Given the description of an element on the screen output the (x, y) to click on. 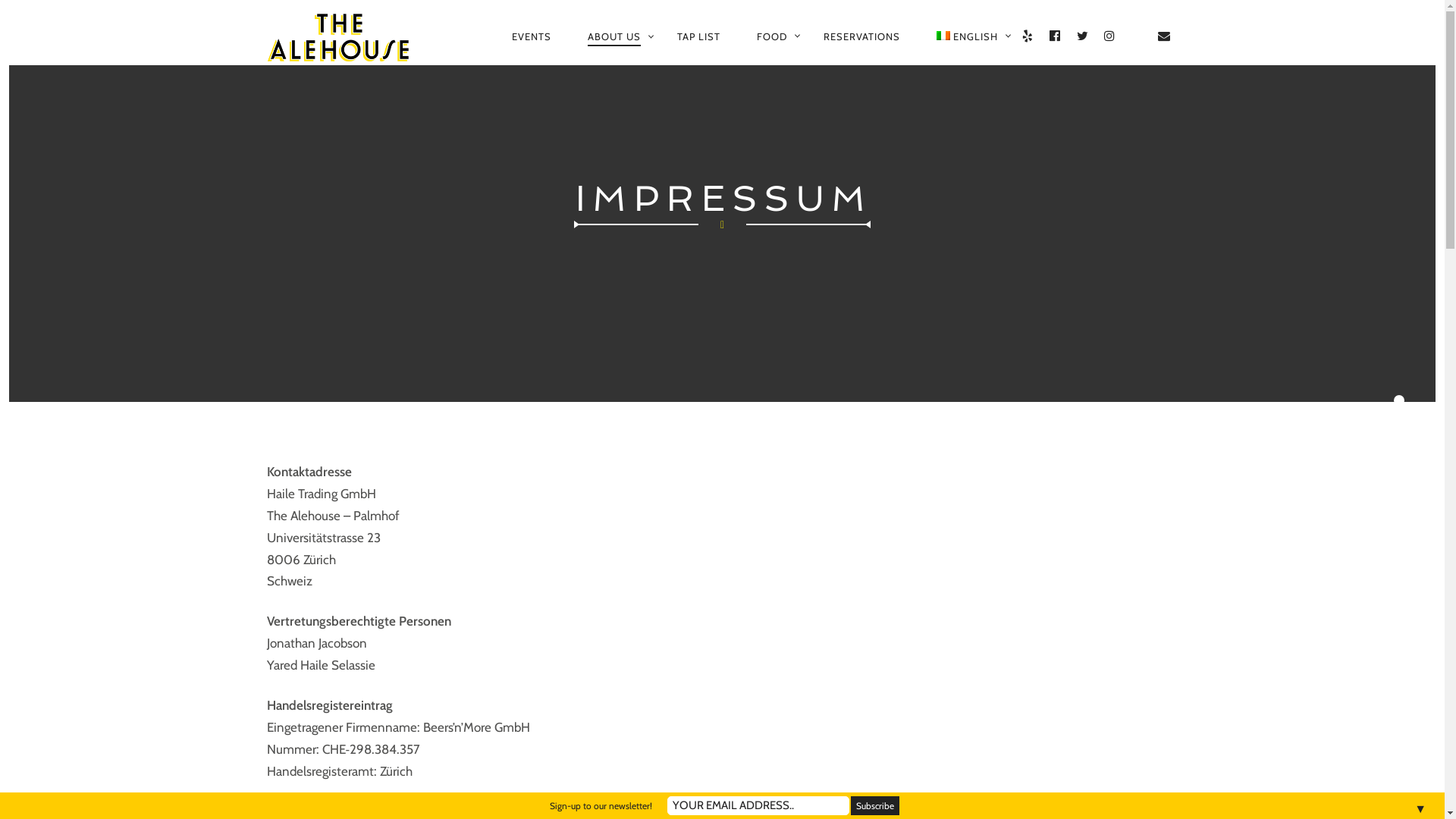
ENGLISH Element type: text (966, 35)
FOOD Element type: text (771, 35)
Subscribe Element type: text (874, 805)
EVENTS Element type: text (531, 35)
ABOUT US Element type: text (614, 36)
EMAIL Element type: text (1164, 36)
YELP Element type: text (1027, 36)
RESERVATIONS Element type: text (861, 35)
RATEBEER Element type: text (1137, 36)
TWITTER Element type: text (1082, 36)
FACEBOOK Element type: text (1055, 36)
INSTAGRAM Element type: text (1109, 36)
TAP LIST Element type: text (698, 35)
